Given the description of an element on the screen output the (x, y) to click on. 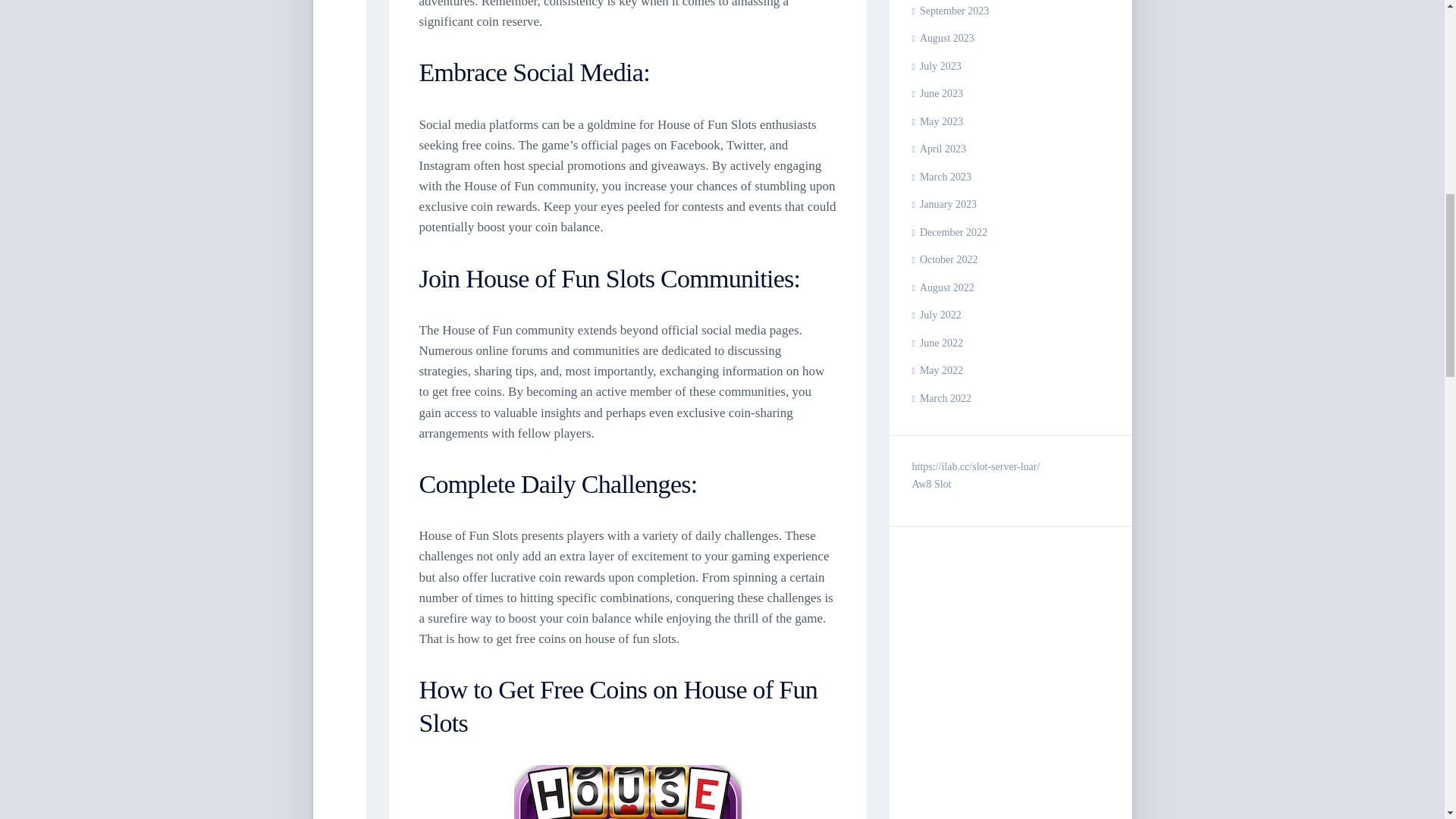
Aw8 Slot (930, 483)
May 2023 (936, 121)
August 2023 (942, 38)
April 2023 (938, 148)
June 2022 (936, 342)
March 2023 (941, 176)
July 2023 (935, 66)
December 2022 (949, 232)
March 2022 (941, 398)
October 2022 (943, 259)
May 2022 (936, 369)
August 2022 (942, 287)
January 2023 (943, 204)
July 2022 (935, 315)
June 2023 (936, 93)
